Given the description of an element on the screen output the (x, y) to click on. 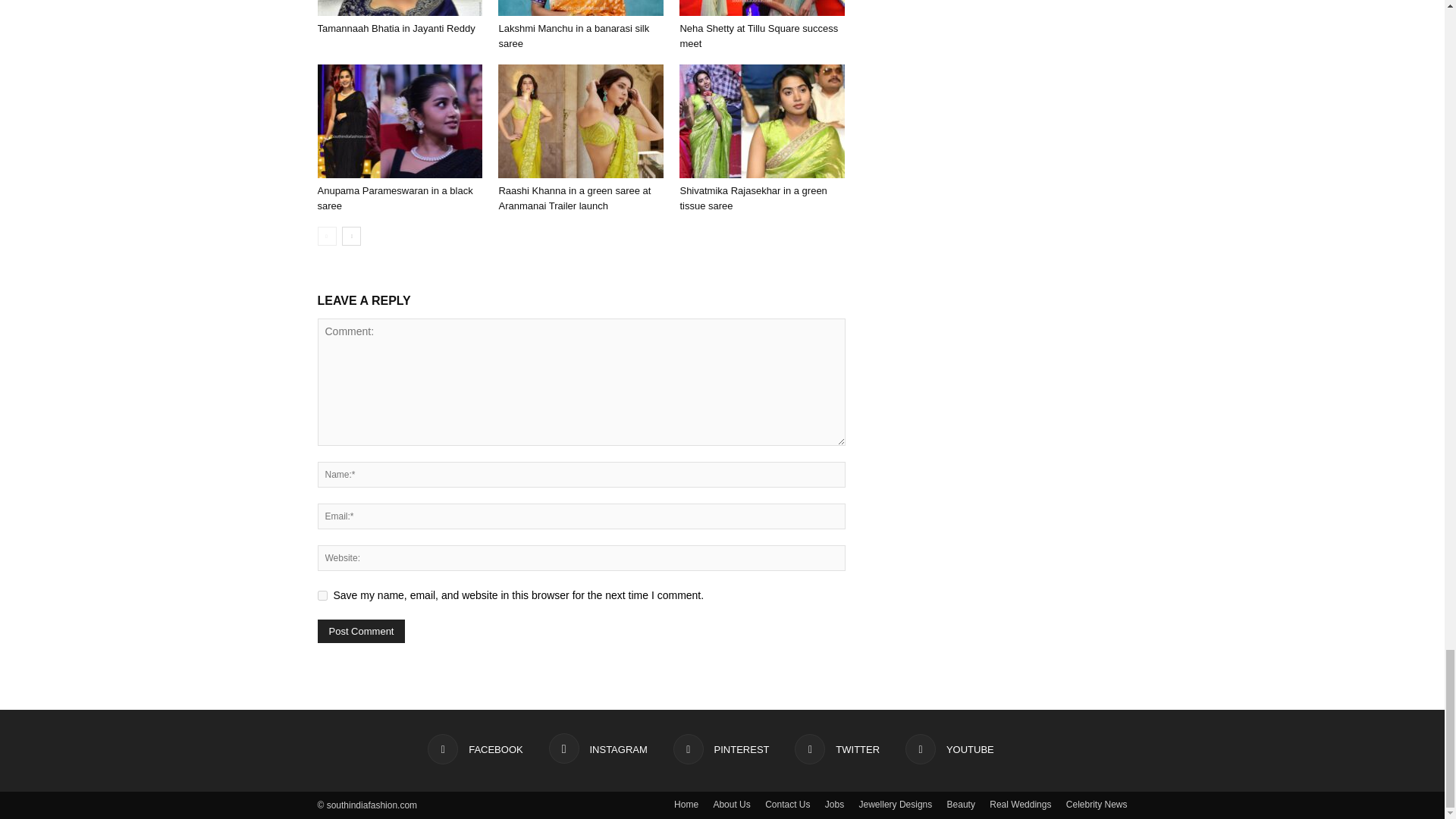
yes (321, 595)
Tamannaah Bhatia in Jayanti Reddy (399, 7)
Post Comment (360, 630)
